Given the description of an element on the screen output the (x, y) to click on. 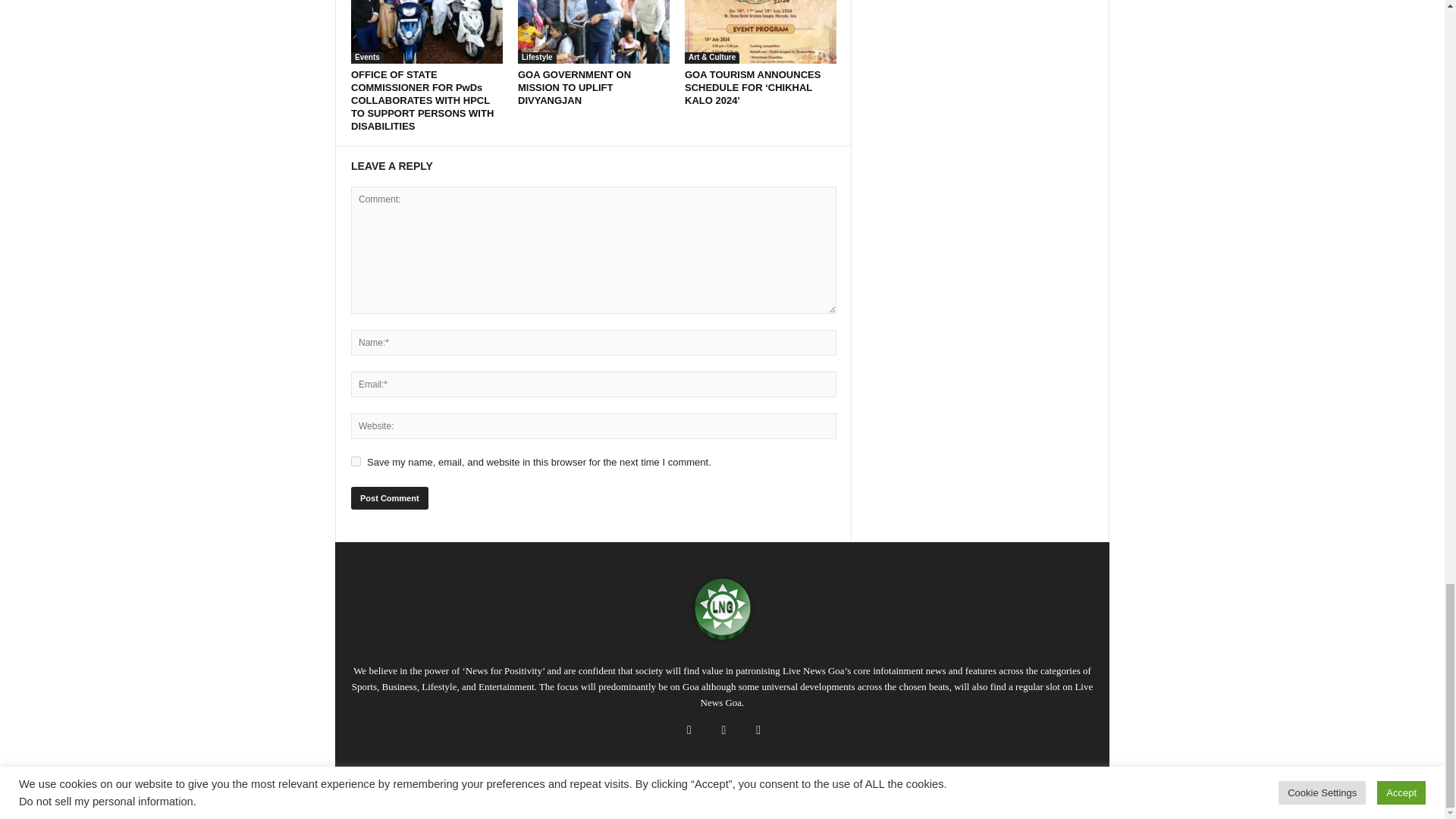
yes (355, 461)
GOA GOVERNMENT ON MISSION TO UPLIFT DIVYANGJAN (593, 31)
Post Comment (389, 497)
GOA GOVERNMENT ON MISSION TO UPLIFT DIVYANGJAN (574, 87)
